Given the description of an element on the screen output the (x, y) to click on. 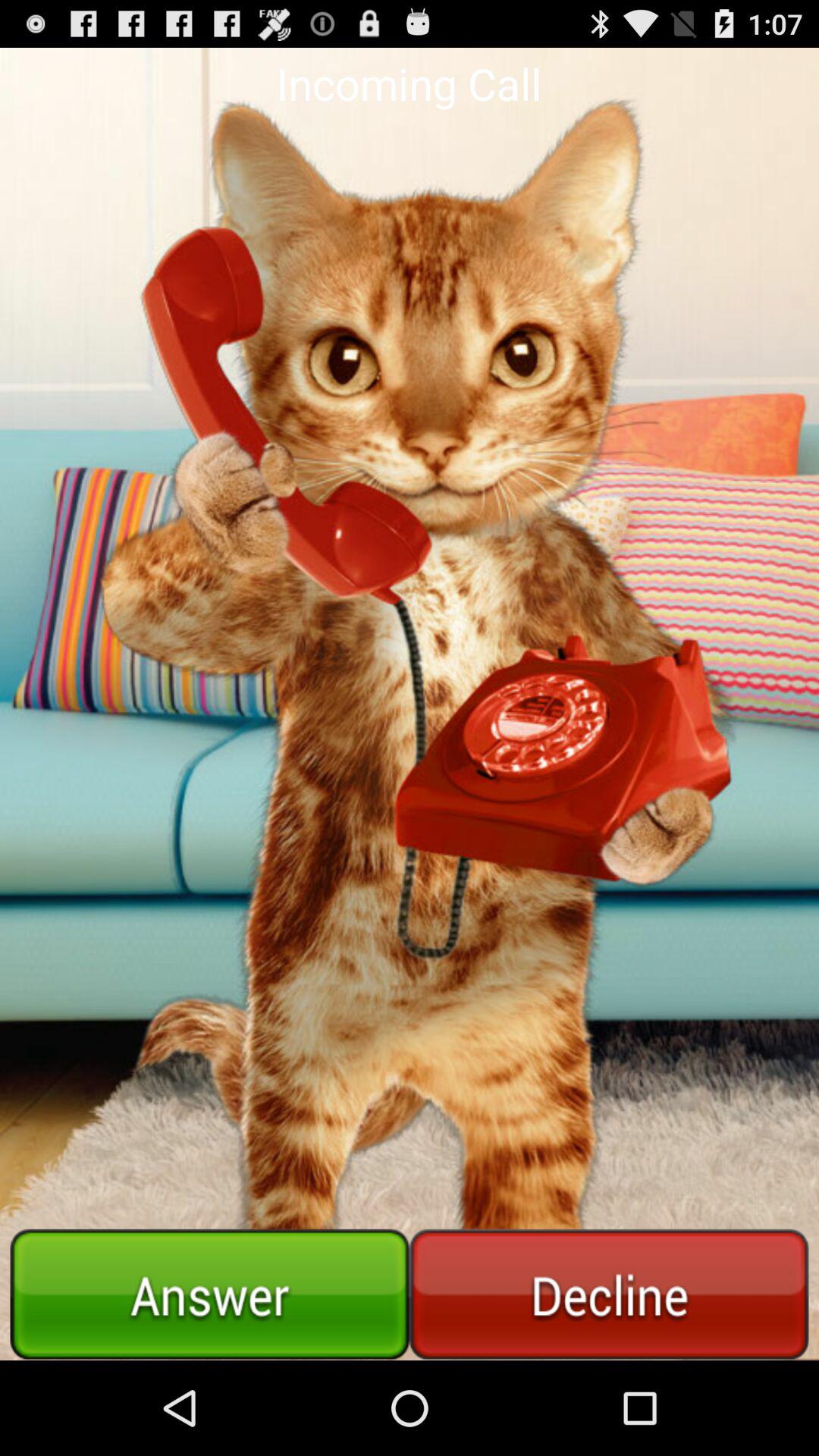
call decline button (608, 1294)
